Given the description of an element on the screen output the (x, y) to click on. 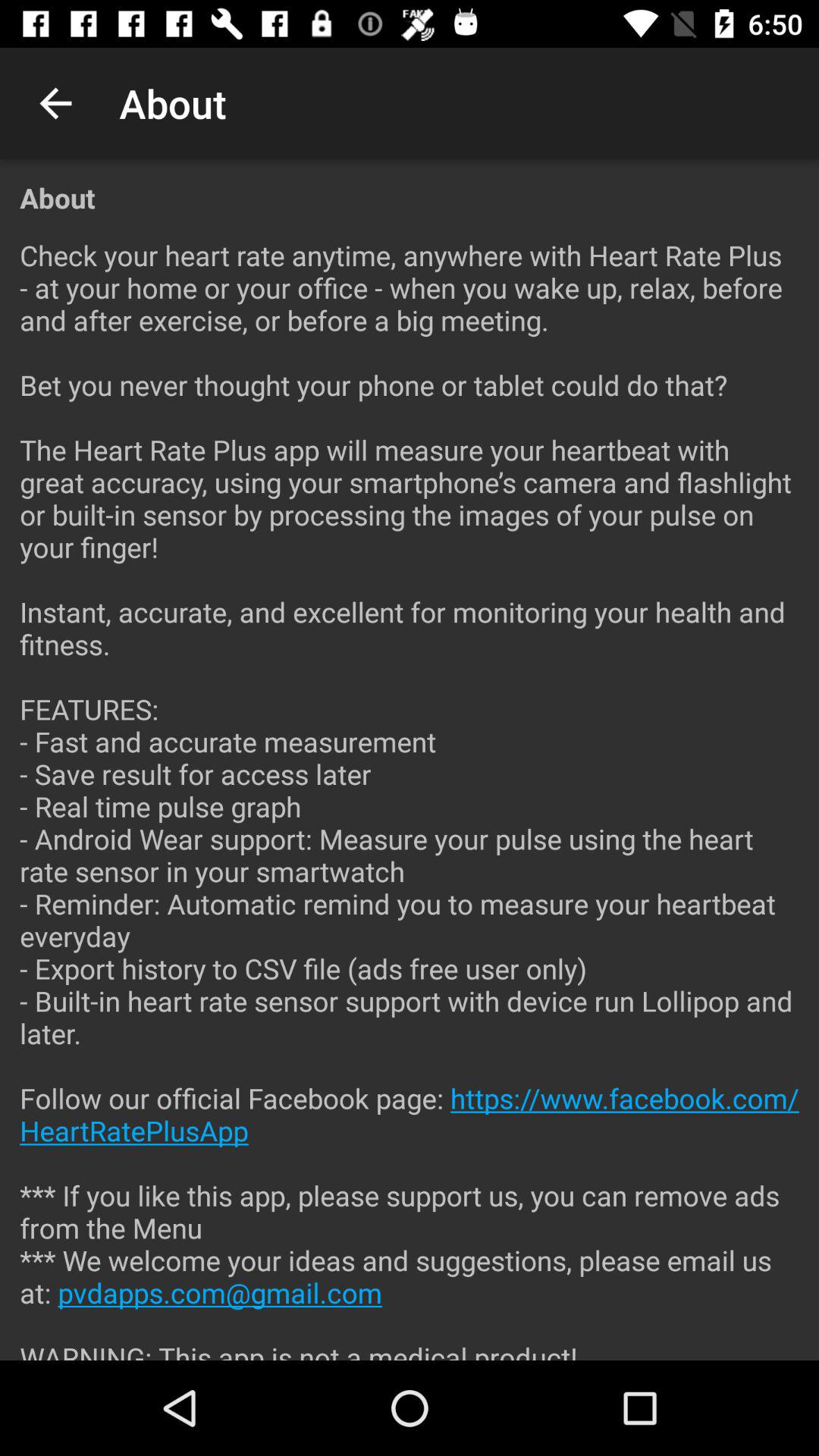
tap the check your heart item (409, 788)
